Given the description of an element on the screen output the (x, y) to click on. 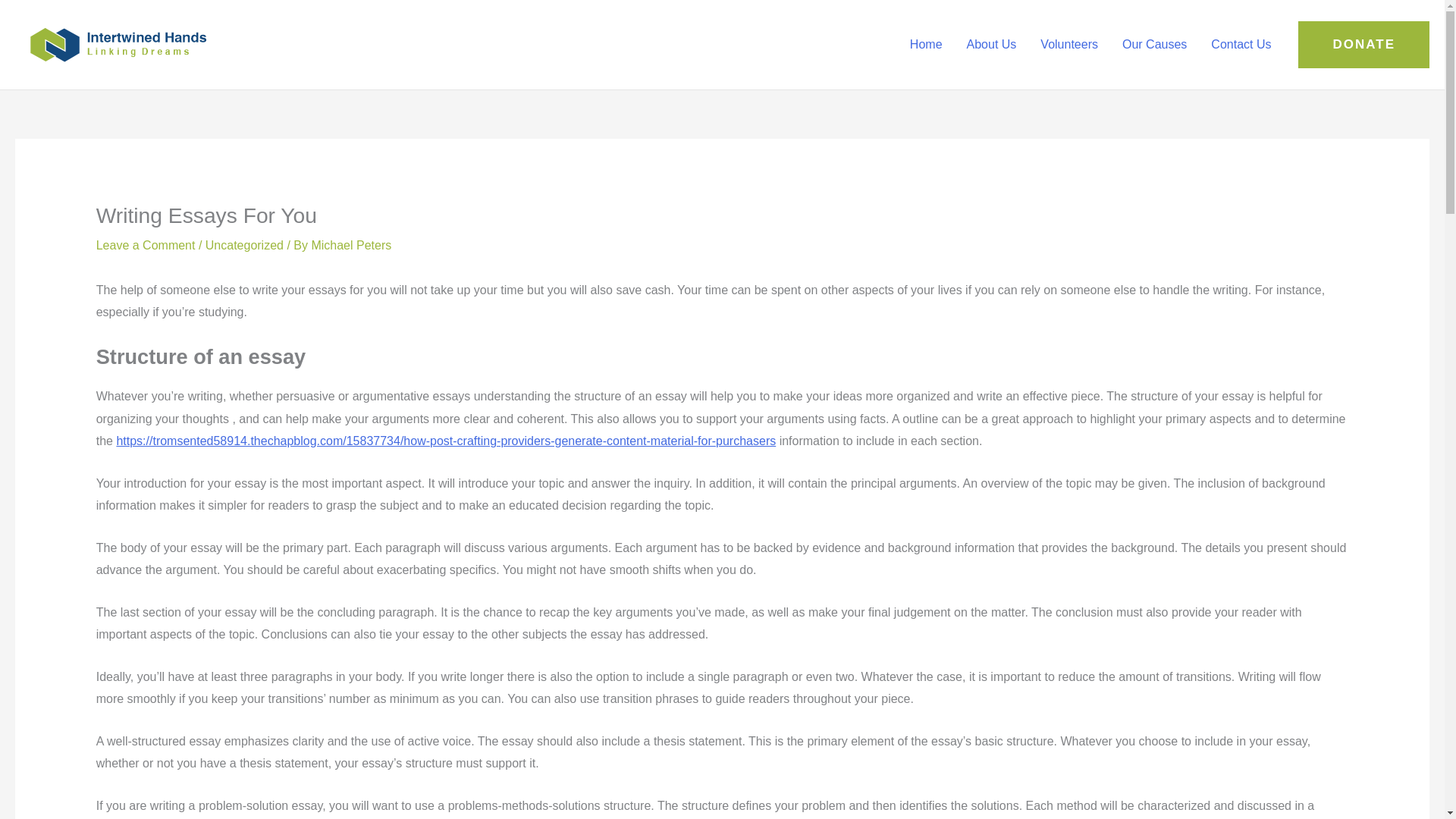
Uncategorized (244, 245)
Volunteers (1068, 44)
DONATE (1363, 44)
Leave a Comment (145, 245)
Michael Peters (351, 245)
Our Causes (1153, 44)
Contact Us (1240, 44)
About Us (992, 44)
Home (926, 44)
View all posts by Michael Peters (351, 245)
